Given the description of an element on the screen output the (x, y) to click on. 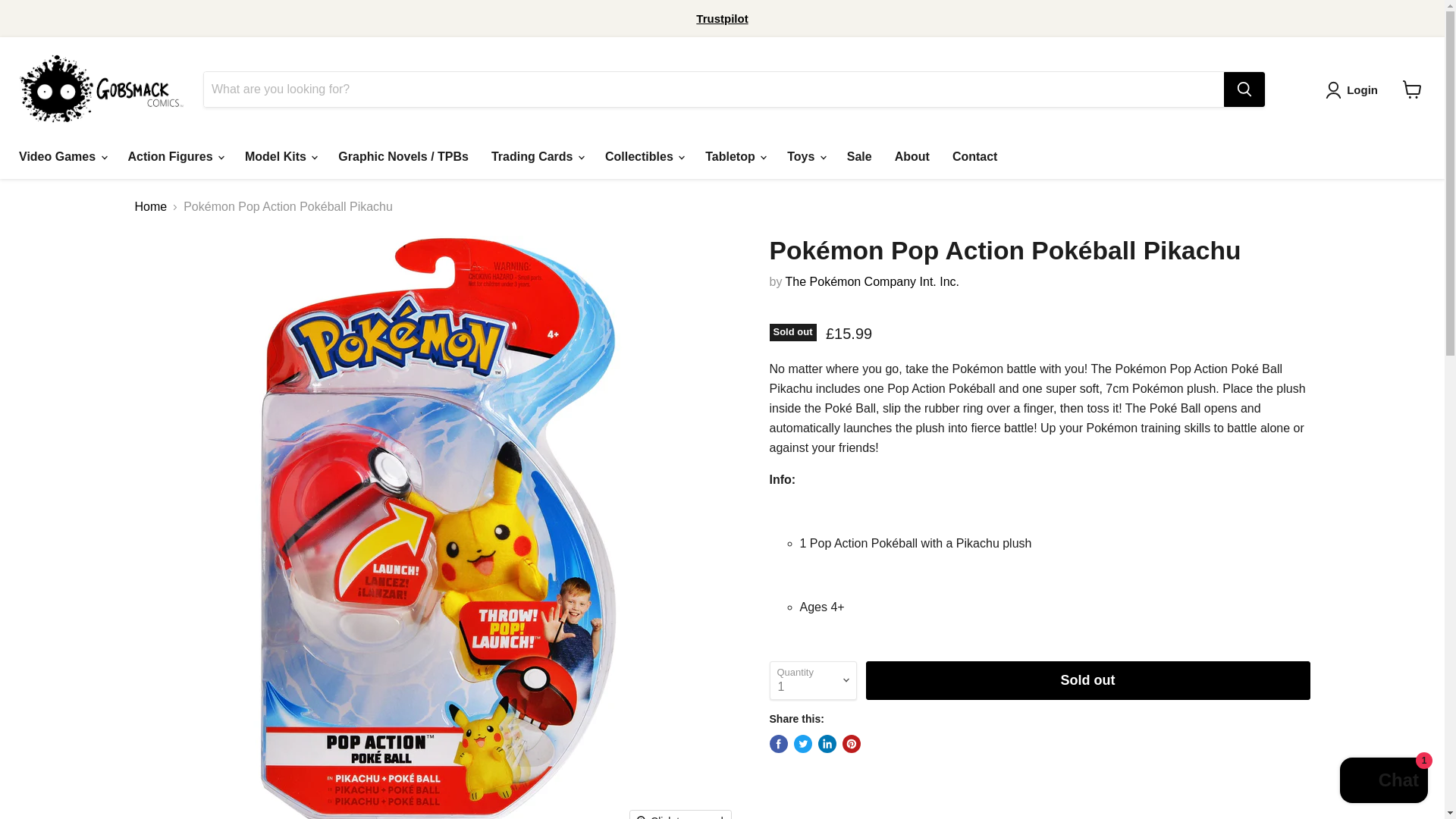
Trustpilot (721, 18)
Login (1362, 89)
View cart (1411, 89)
Shopify online store chat (1383, 781)
